Given the description of an element on the screen output the (x, y) to click on. 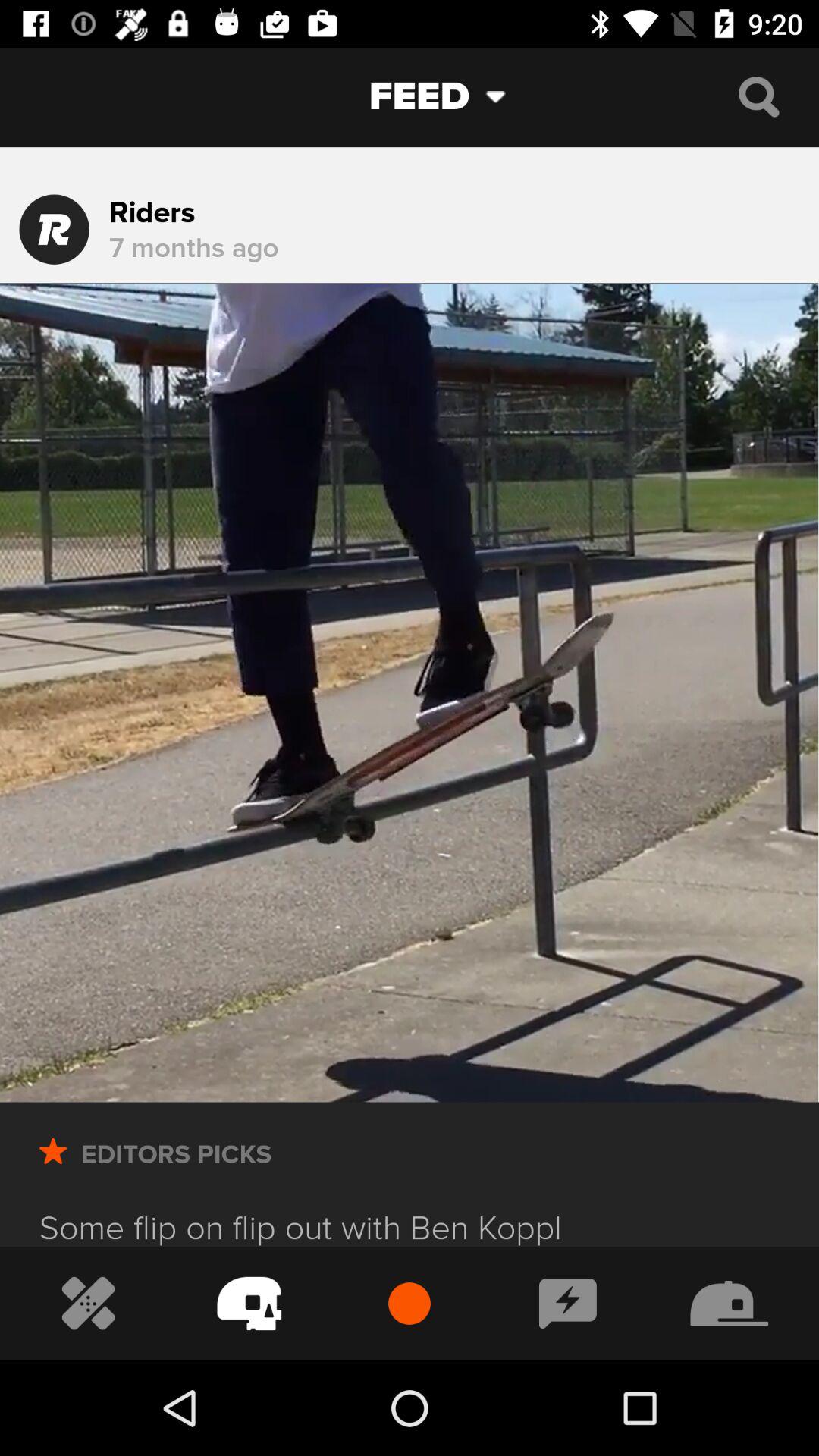
saved (53, 1173)
